Given the description of an element on the screen output the (x, y) to click on. 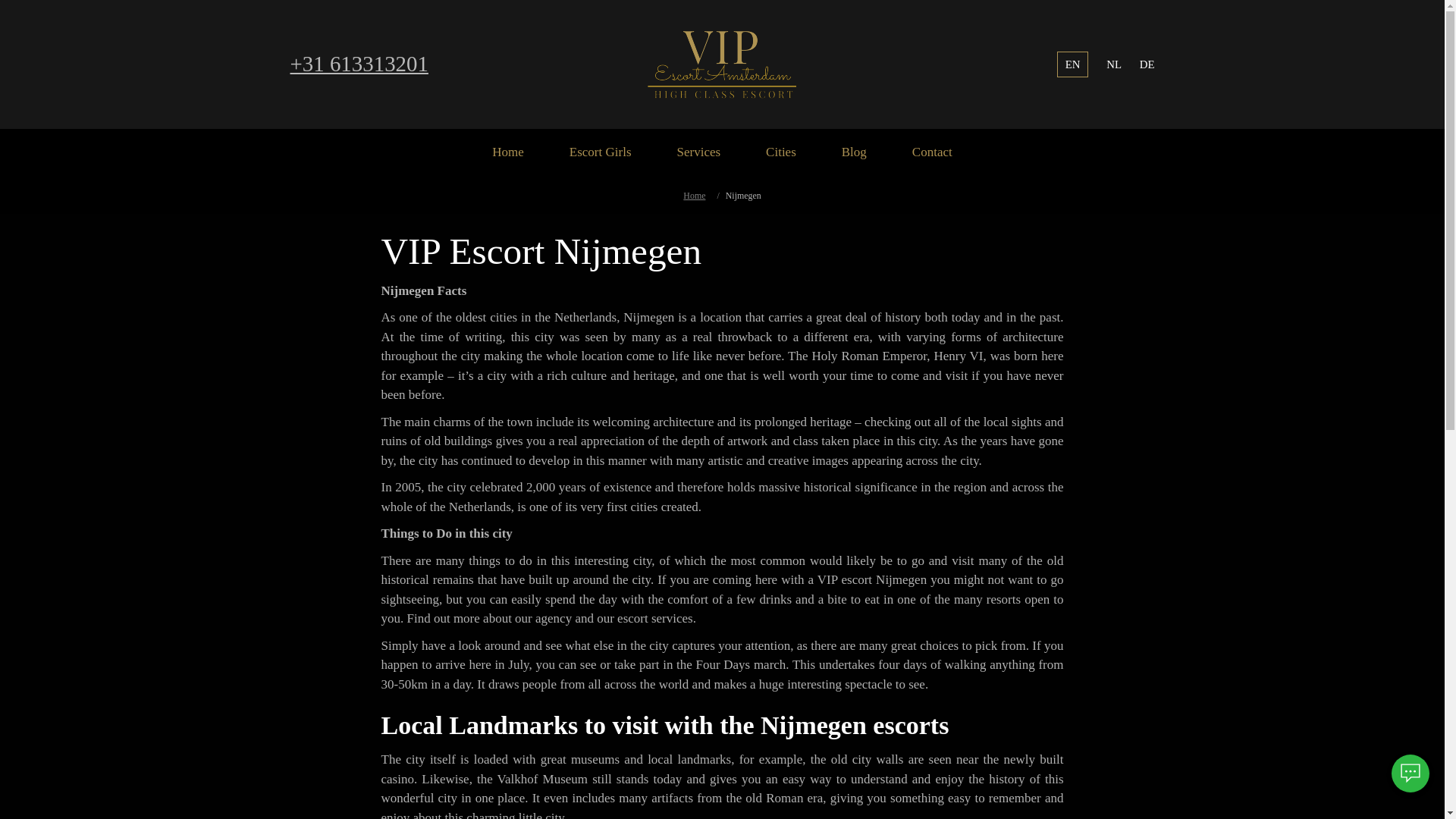
de (1147, 64)
NL (1113, 64)
Services (697, 152)
DE (1147, 64)
nl (1113, 64)
EN (1072, 64)
Escorts Gallery (600, 152)
Blog (853, 152)
Cities (780, 152)
Escort Service (697, 152)
